Given the description of an element on the screen output the (x, y) to click on. 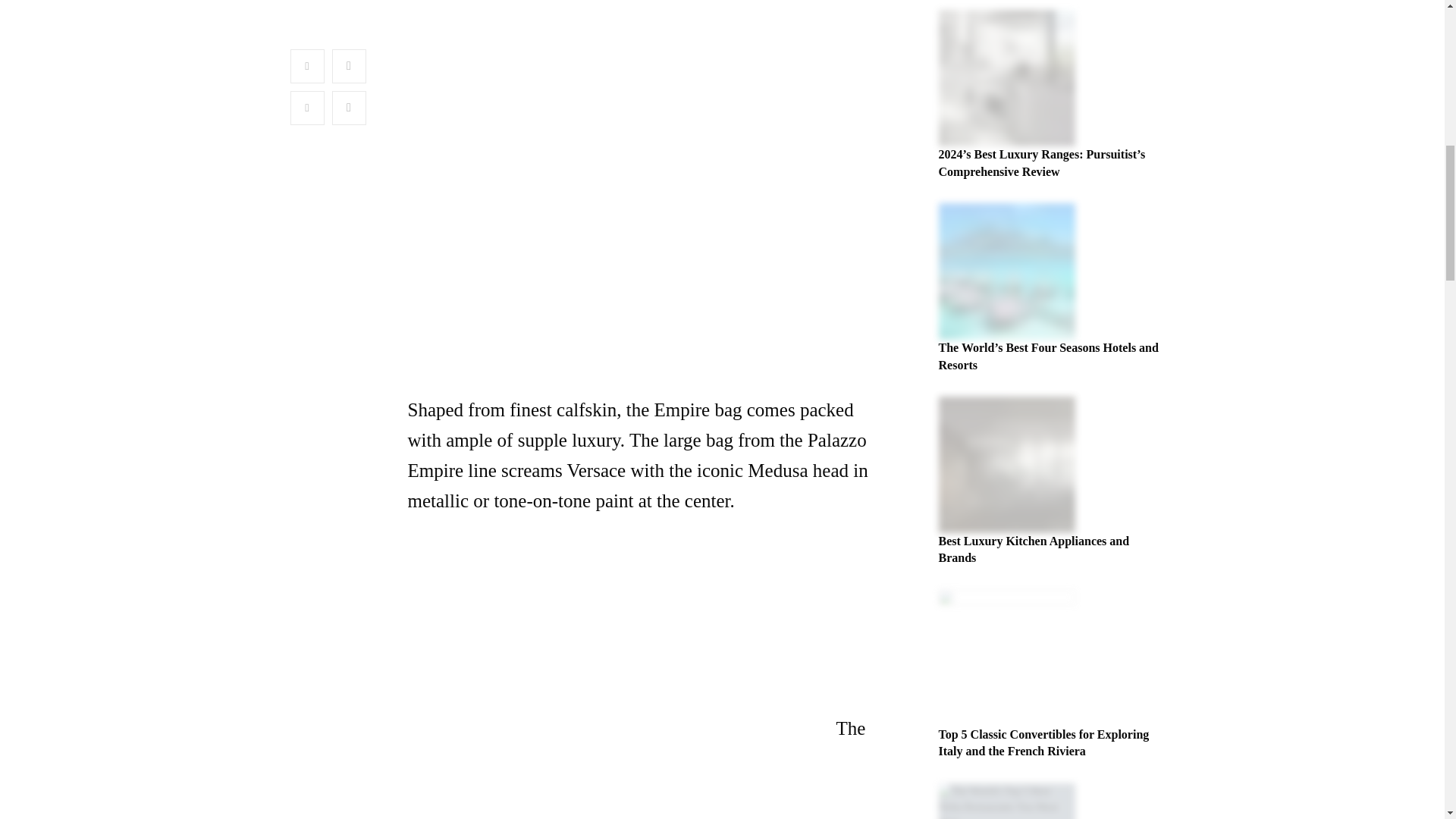
Best Luxury Kitchen Appliances and Brands (1034, 549)
